Given the description of an element on the screen output the (x, y) to click on. 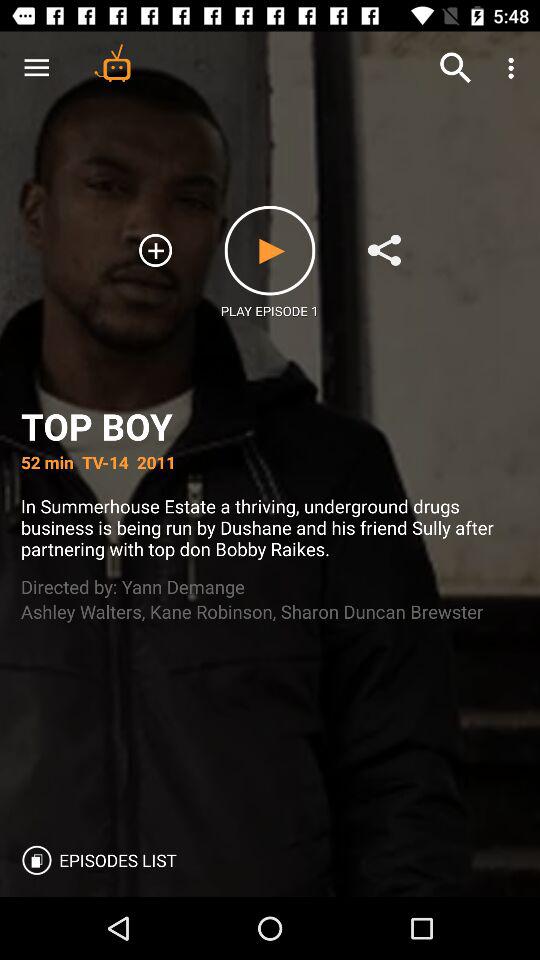
play episode (269, 250)
